Given the description of an element on the screen output the (x, y) to click on. 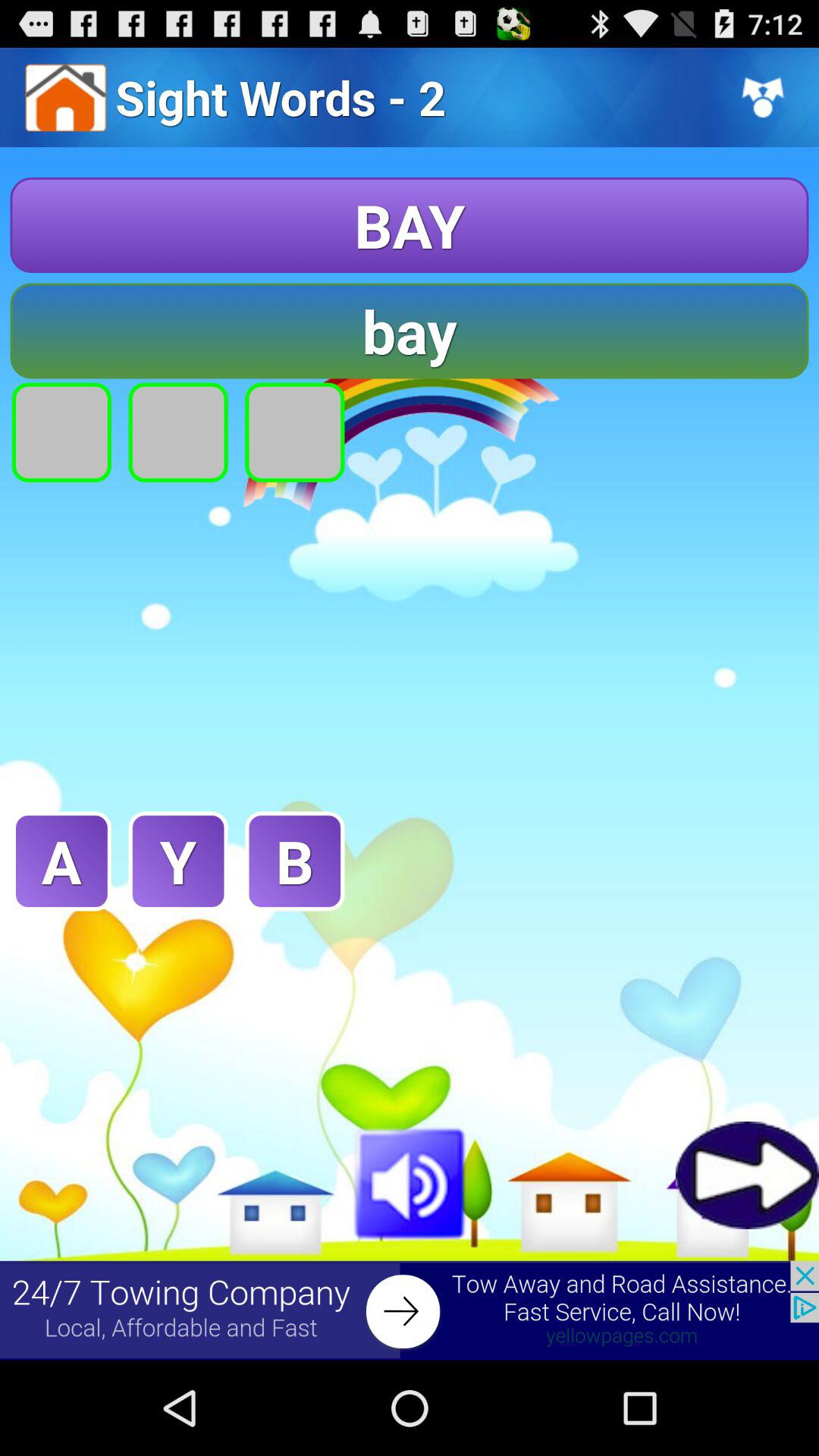
play sound (409, 1181)
